Given the description of an element on the screen output the (x, y) to click on. 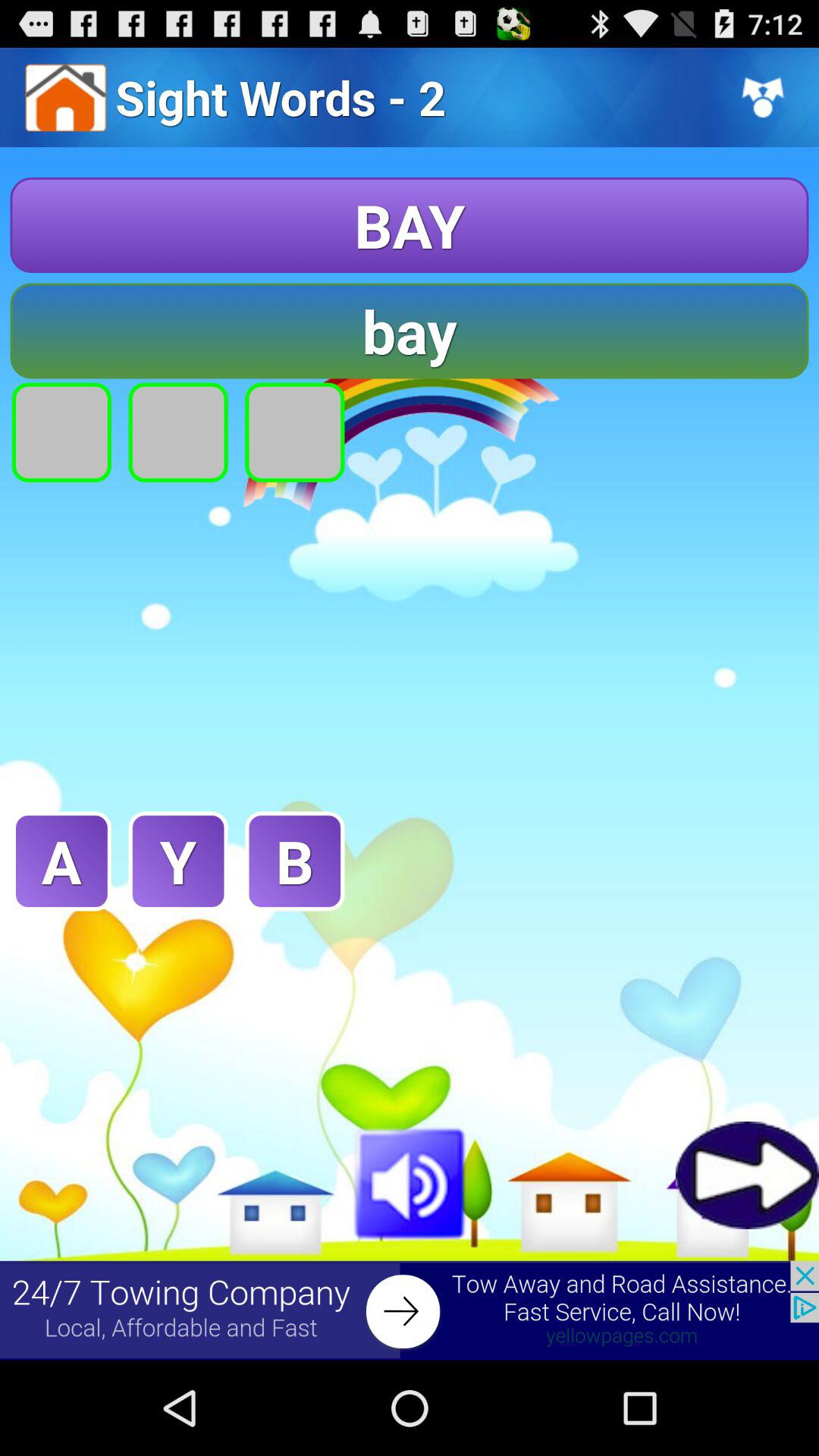
play sound (409, 1181)
